Given the description of an element on the screen output the (x, y) to click on. 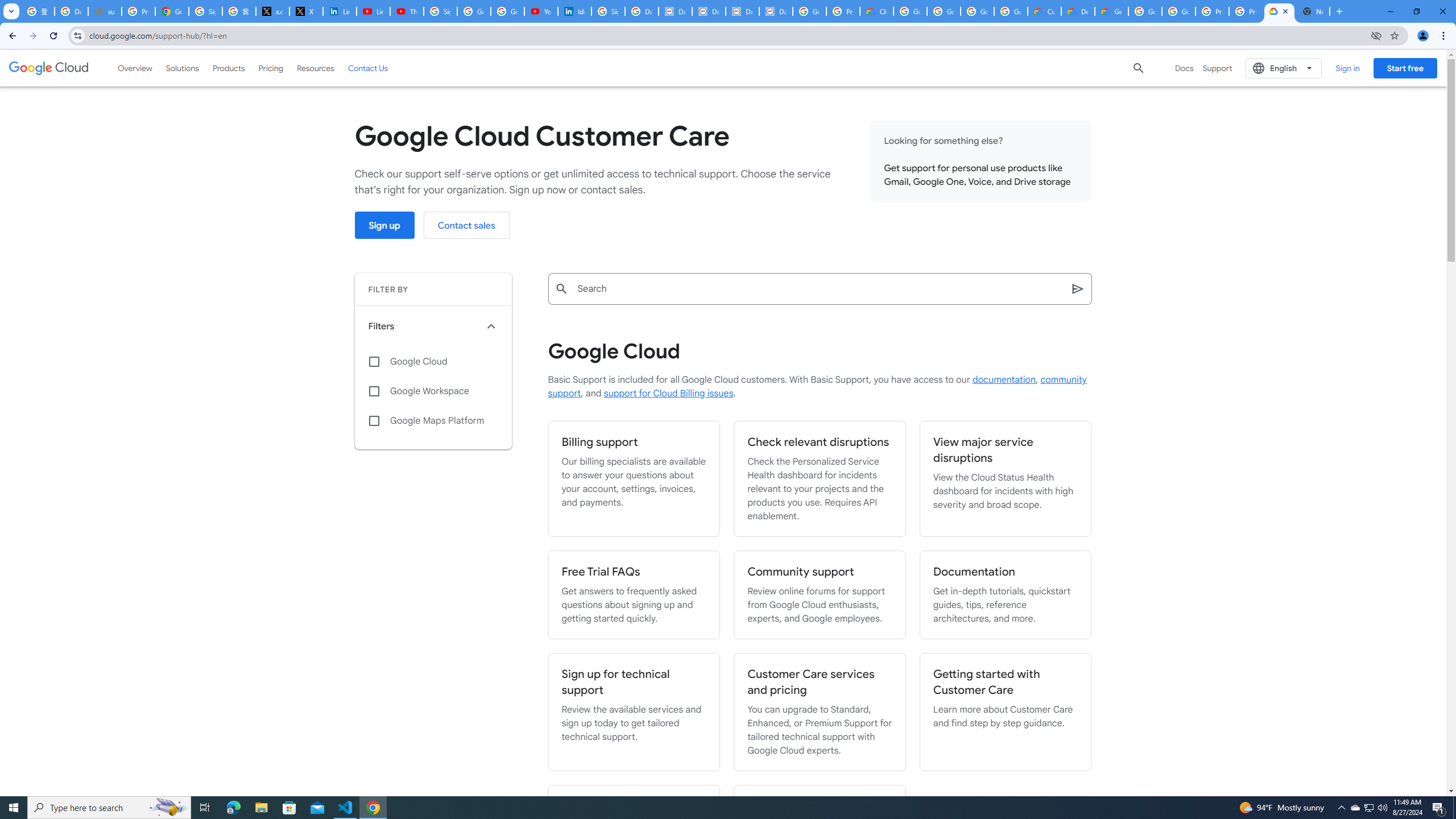
support for Cloud Billing issues (667, 393)
Sign in - Google Accounts (205, 11)
documentation (1004, 379)
Data Privacy Framework (775, 11)
New Tab (1313, 11)
Google Maps Platform (432, 420)
